Given the description of an element on the screen output the (x, y) to click on. 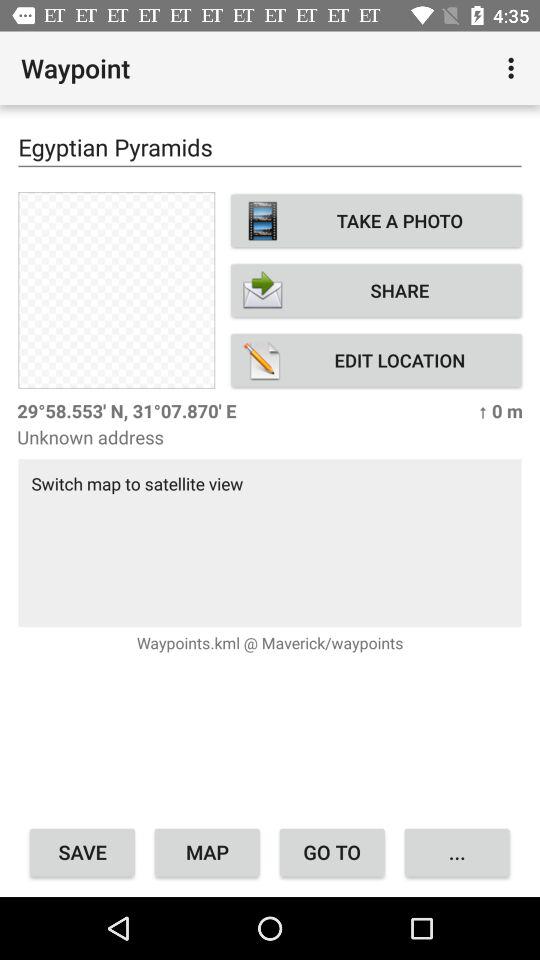
select icon below the waypoints kml maverick icon (456, 851)
